Given the description of an element on the screen output the (x, y) to click on. 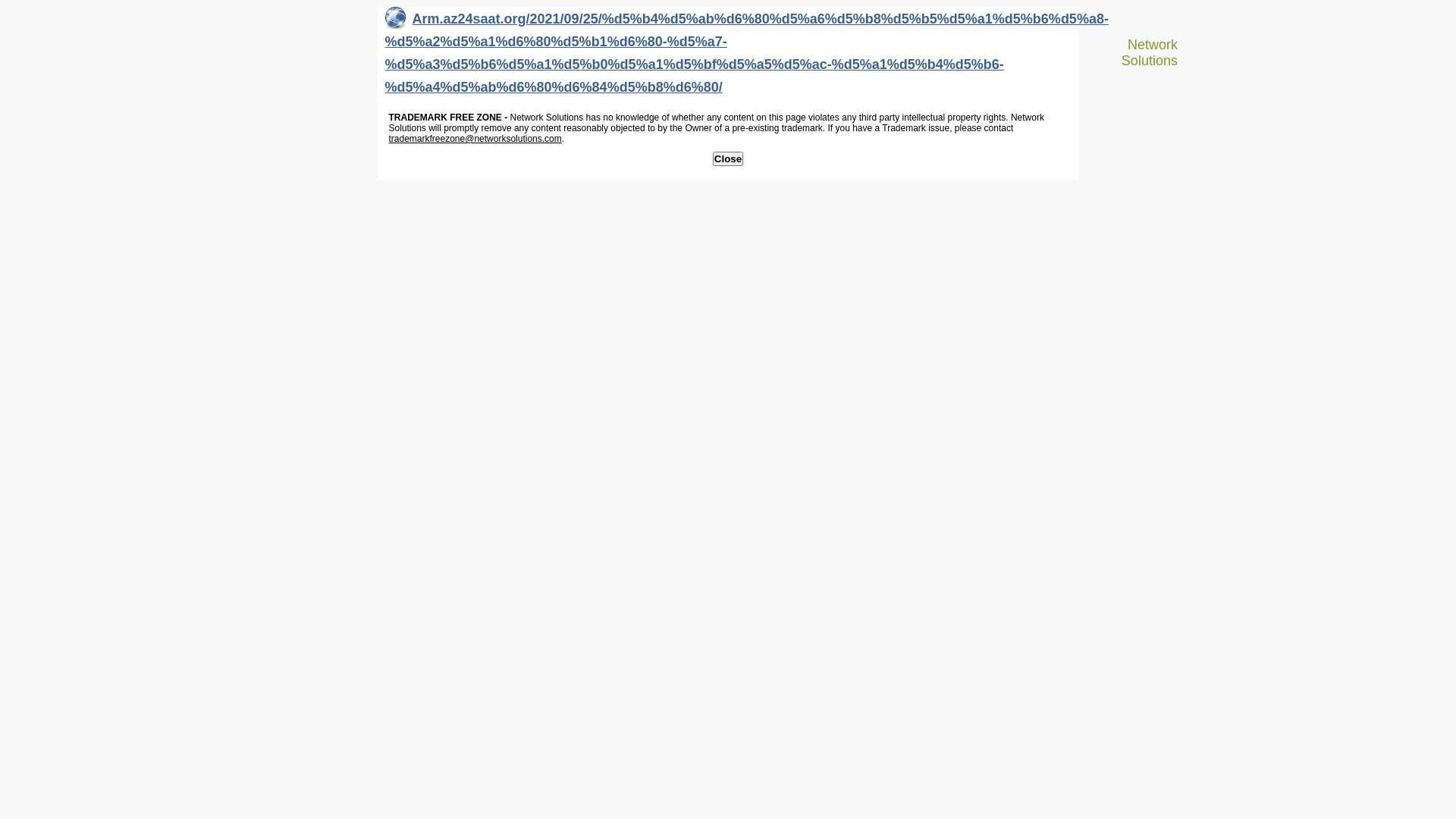
Close Element type: text (727, 158)
Network Solutions Element type: text (1142, 52)
trademarkfreezone@networksolutions.com Element type: text (474, 138)
